Given the description of an element on the screen output the (x, y) to click on. 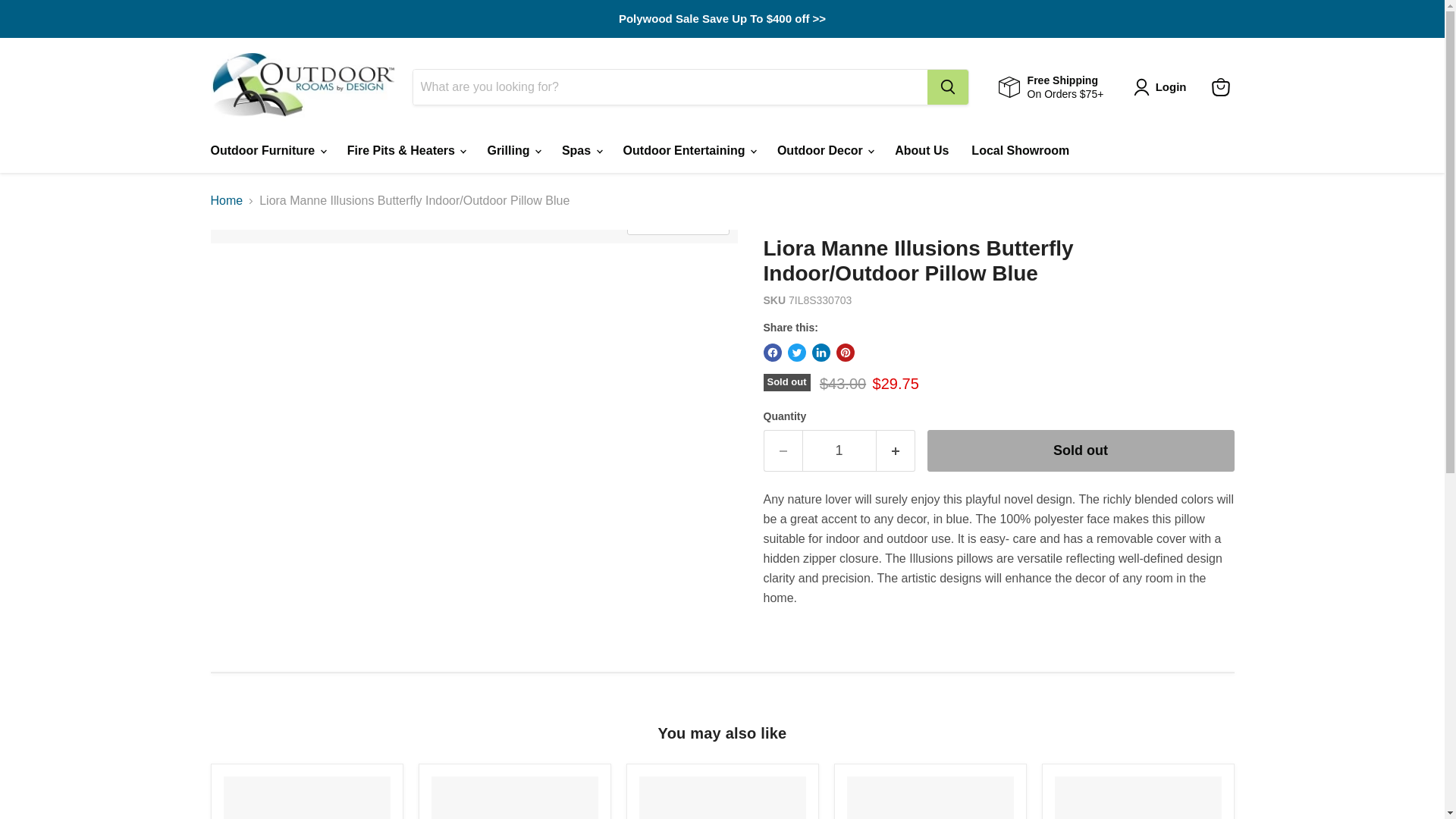
1 (839, 450)
Login (1163, 86)
View cart (1220, 87)
